Given the description of an element on the screen output the (x, y) to click on. 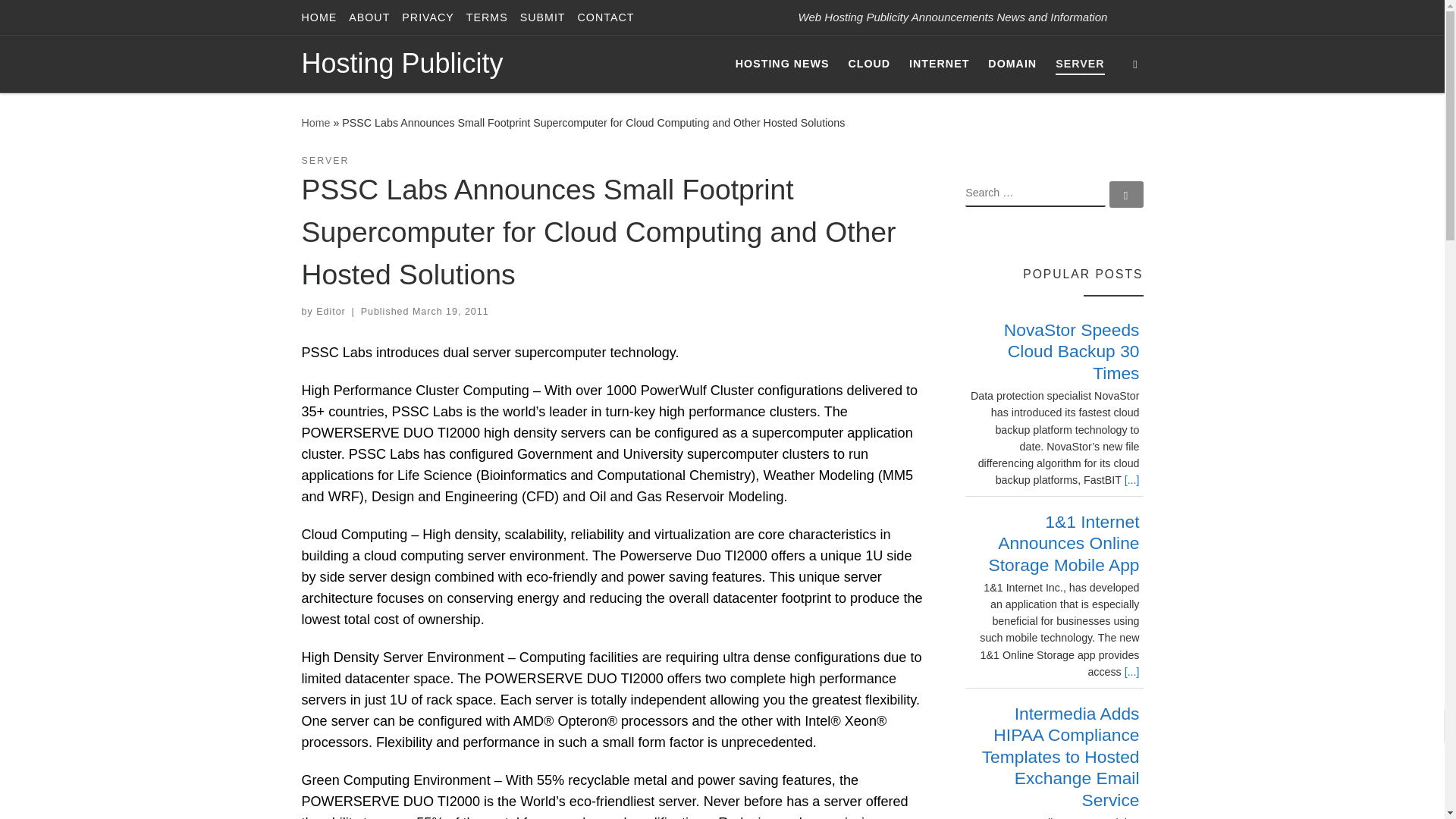
SERVER (325, 160)
1:06 pm (450, 311)
INTERNET (939, 63)
DOMAIN (1012, 63)
View all posts in Server (325, 160)
ABOUT (369, 17)
TERMS (487, 17)
Skip to content (60, 20)
CONTACT (606, 17)
SUBMIT (542, 17)
HOME (319, 17)
Home (315, 122)
CLOUD (869, 63)
NovaStor Speeds Cloud Backup 30 Times (1072, 351)
PRIVACY (427, 17)
